Given the description of an element on the screen output the (x, y) to click on. 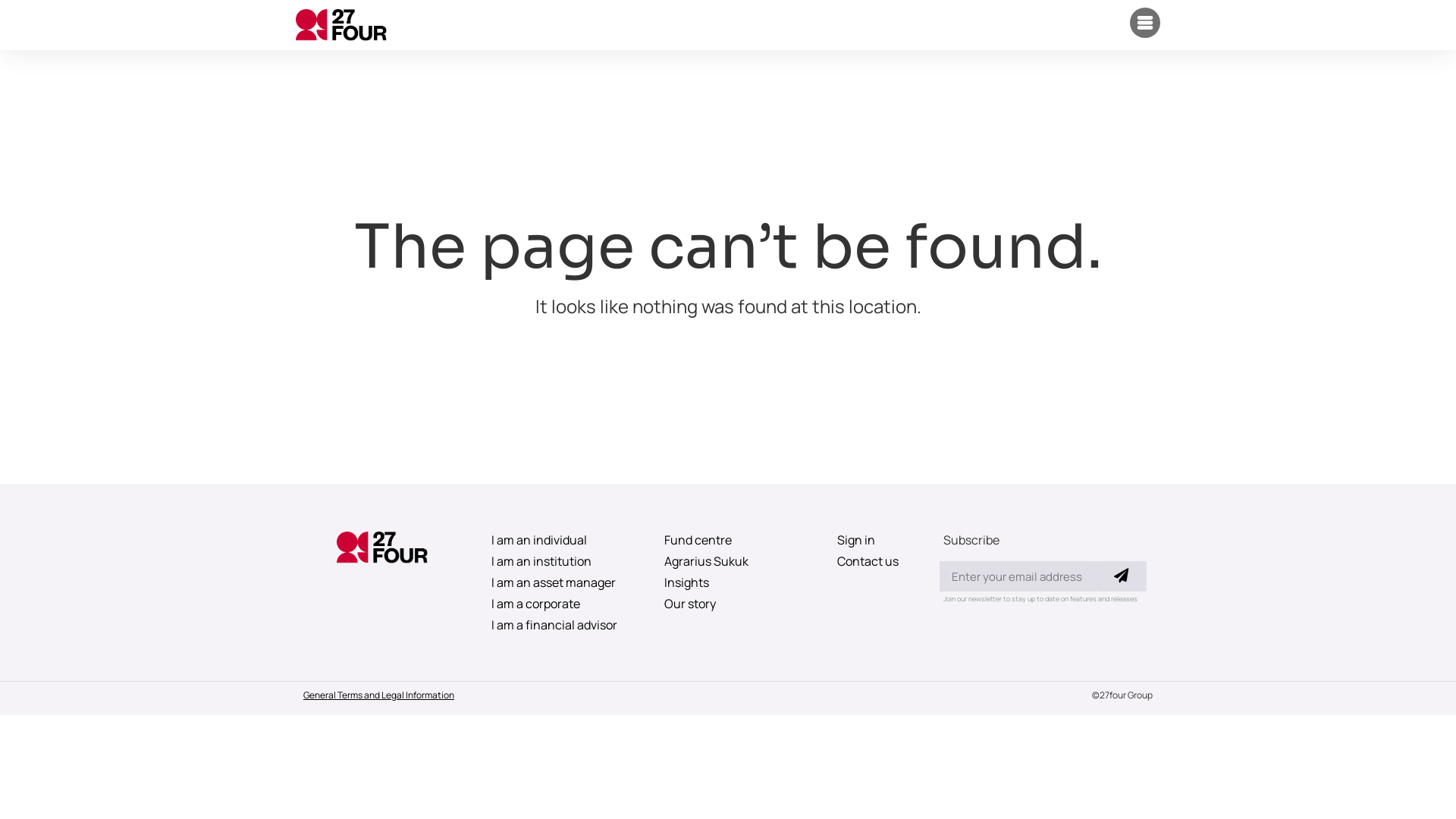
I am an asset manager Element type: text (554, 582)
I am a financial advisor Element type: text (554, 624)
Sign in Element type: text (875, 539)
I am an individual Element type: text (554, 539)
I am an institution Element type: text (554, 560)
Insights Element type: text (727, 582)
I am a corporate Element type: text (554, 603)
Agrarius Sukuk Element type: text (727, 560)
Fund centre Element type: text (727, 539)
Our story Element type: text (727, 603)
General Terms and Legal Information Element type: text (378, 694)
Contact us Element type: text (875, 560)
